Given the description of an element on the screen output the (x, y) to click on. 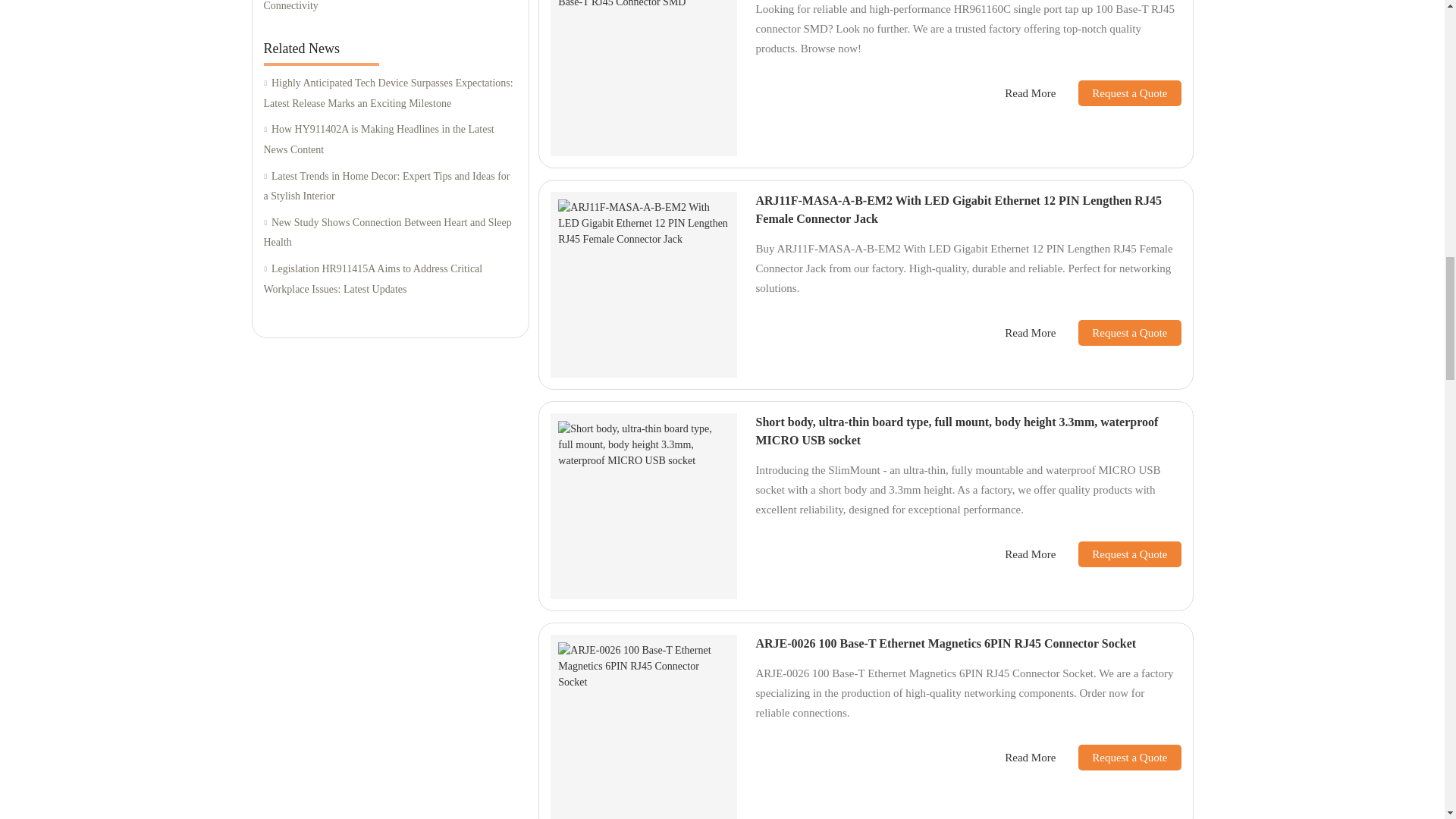
How HY911402A is Making Headlines in the Latest News Content (389, 139)
New Study Shows Connection Between Heart and Sleep Health (389, 232)
